Given the description of an element on the screen output the (x, y) to click on. 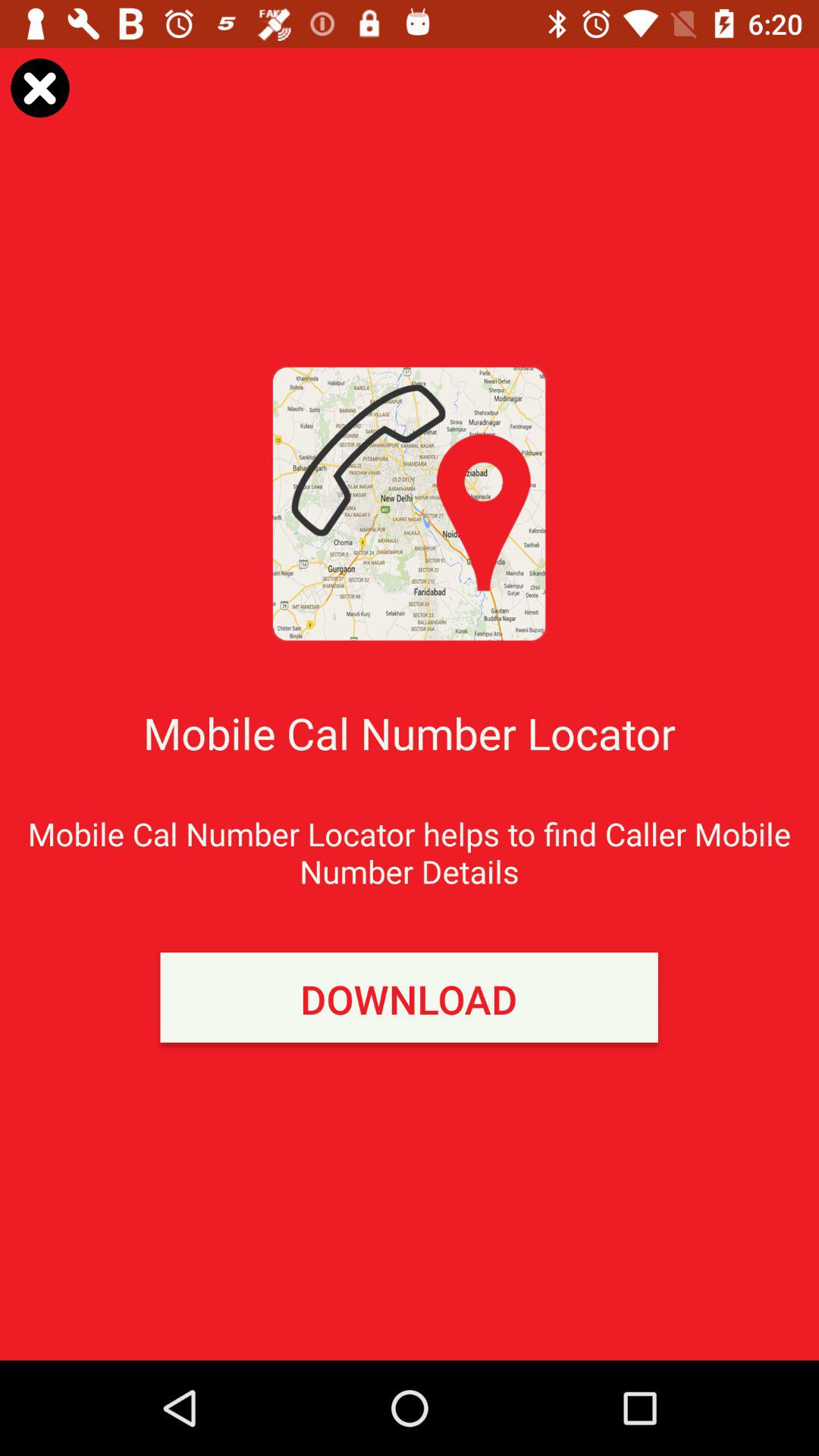
turn off icon below mobile cal number (409, 997)
